Given the description of an element on the screen output the (x, y) to click on. 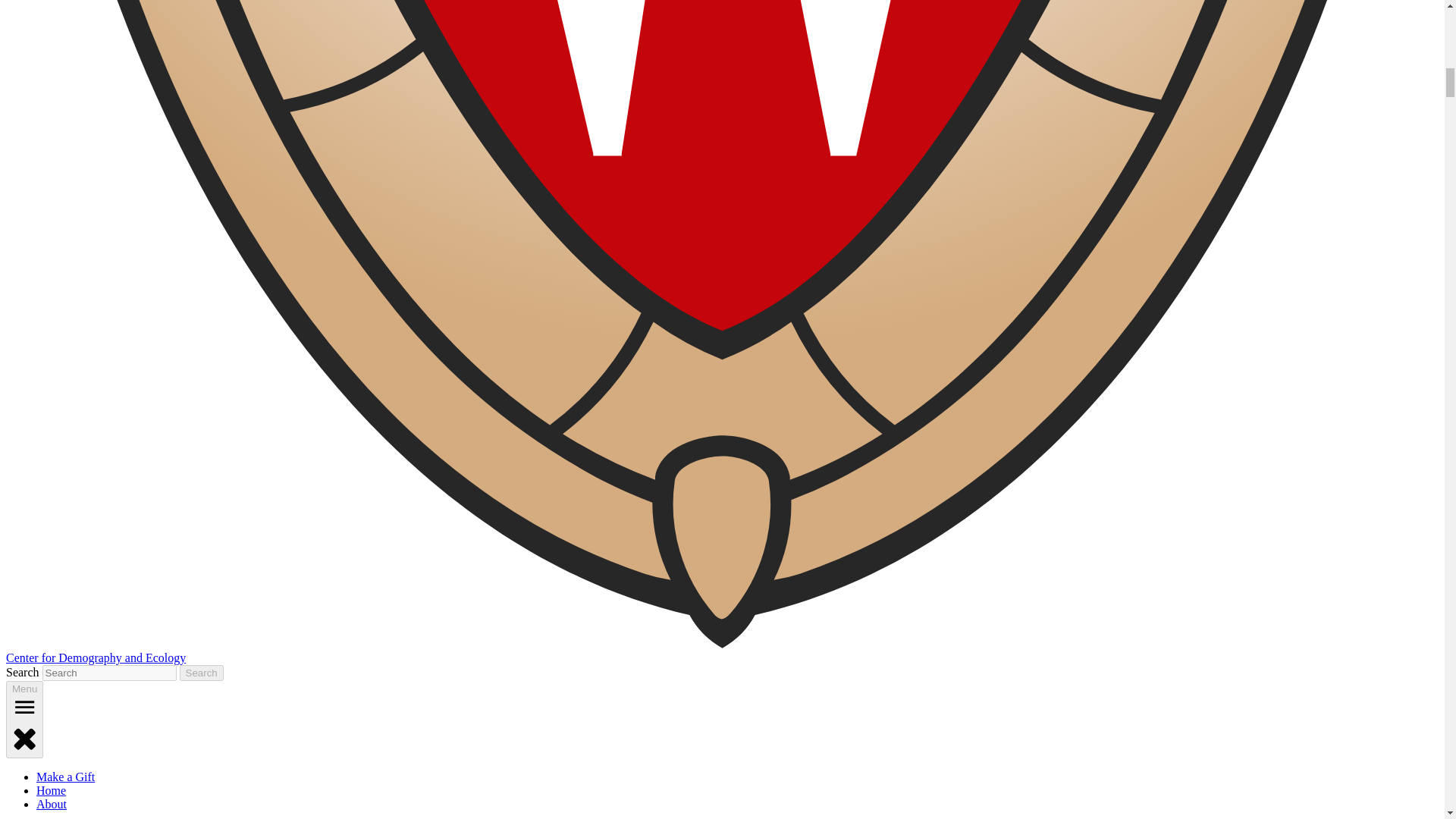
open menu (24, 706)
Center for Demography and Ecology (95, 657)
Search (201, 672)
Search (201, 672)
Make a Gift (65, 776)
Search (201, 672)
Home (50, 789)
